Given the description of an element on the screen output the (x, y) to click on. 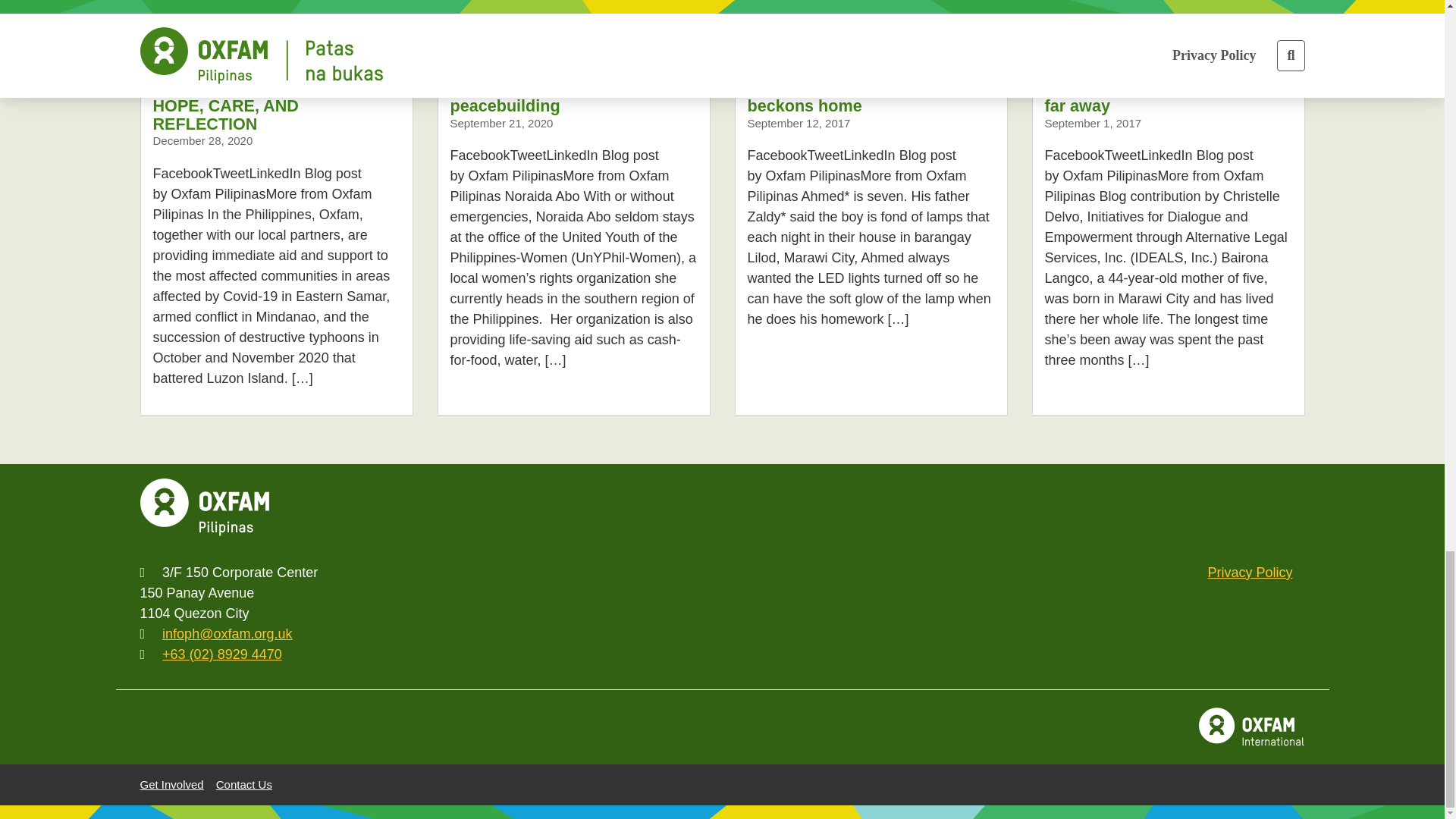
BLOGS (1064, 69)
Oxfam Pilipinas Twitter page (1078, 507)
home (203, 507)
A SEASON FILLED WITH HOPE, CARE, AND REFLECTION (276, 24)
BLOGS (172, 69)
Ahmed and his solar lamp that beckons home (871, 24)
Ahmed and his solar lamp that beckons home (866, 96)
Relief is helpful, but home is far away (1168, 24)
Oxfam Pilipinas Instagram account (1128, 507)
Oxfam Pilipinas (203, 507)
